Given the description of an element on the screen output the (x, y) to click on. 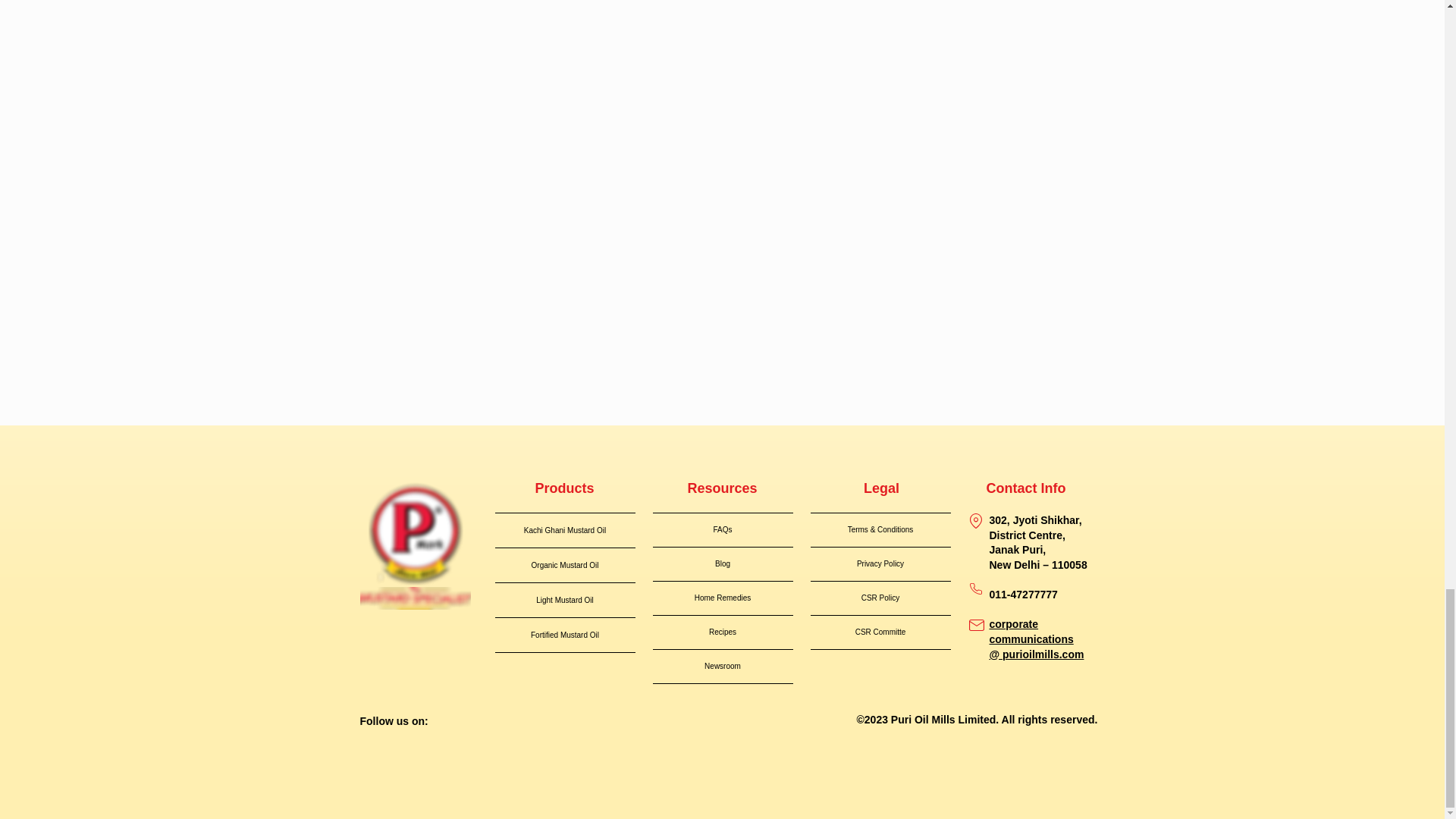
Home Remedies (722, 598)
Kachi Ghani Mustard Oil (564, 530)
CSR Committe (879, 632)
FAQs (722, 530)
Light Mustard Oil (564, 600)
CSR Policy (879, 598)
Privacy Policy (879, 563)
Fortified Mustard Oil (564, 634)
Blog (722, 563)
Organic Mustard Oil (564, 564)
